Given the description of an element on the screen output the (x, y) to click on. 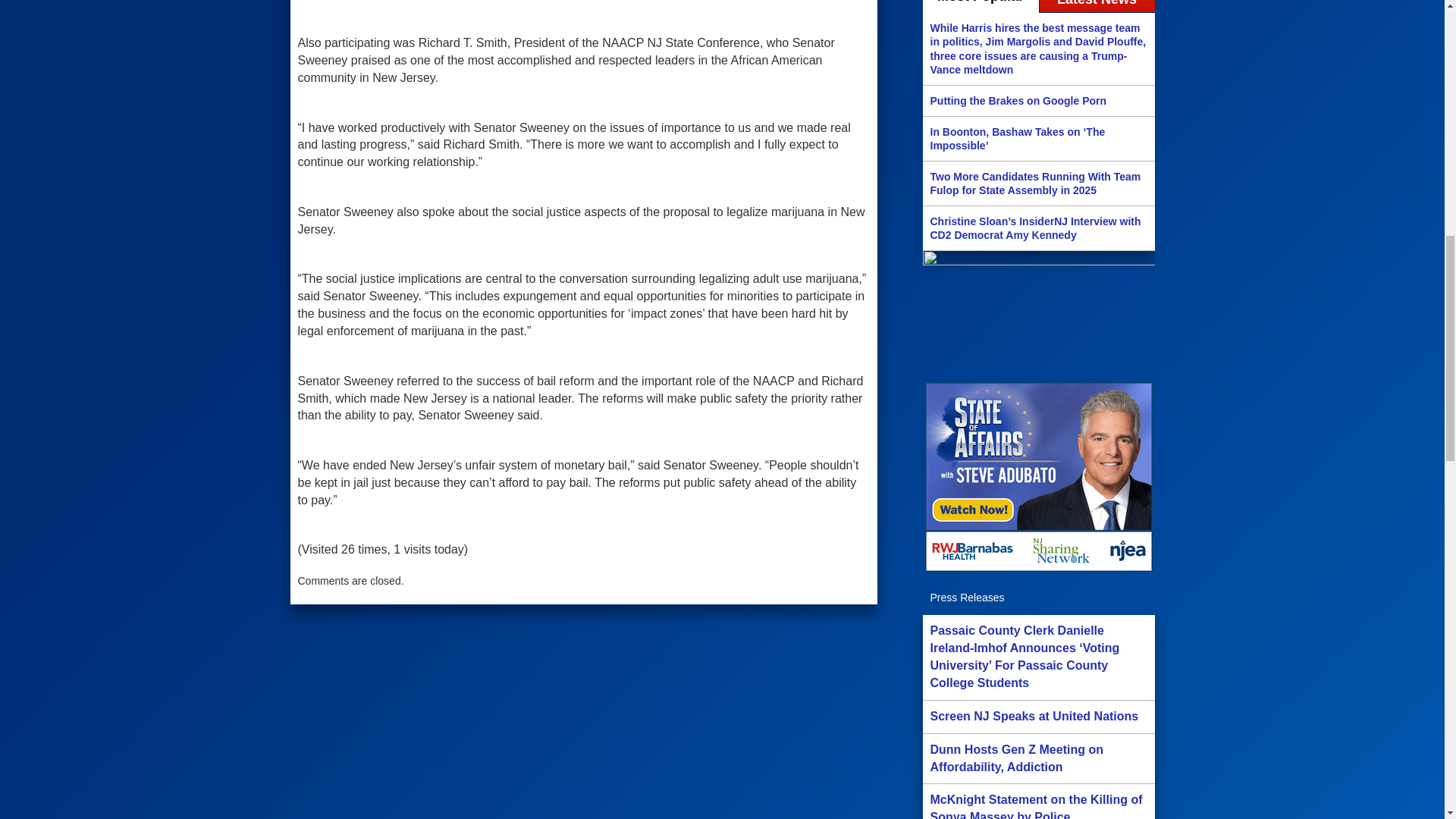
Putting the Brakes on Google Porn (1037, 100)
Most Popular (979, 6)
Latest News (1096, 6)
